Given the description of an element on the screen output the (x, y) to click on. 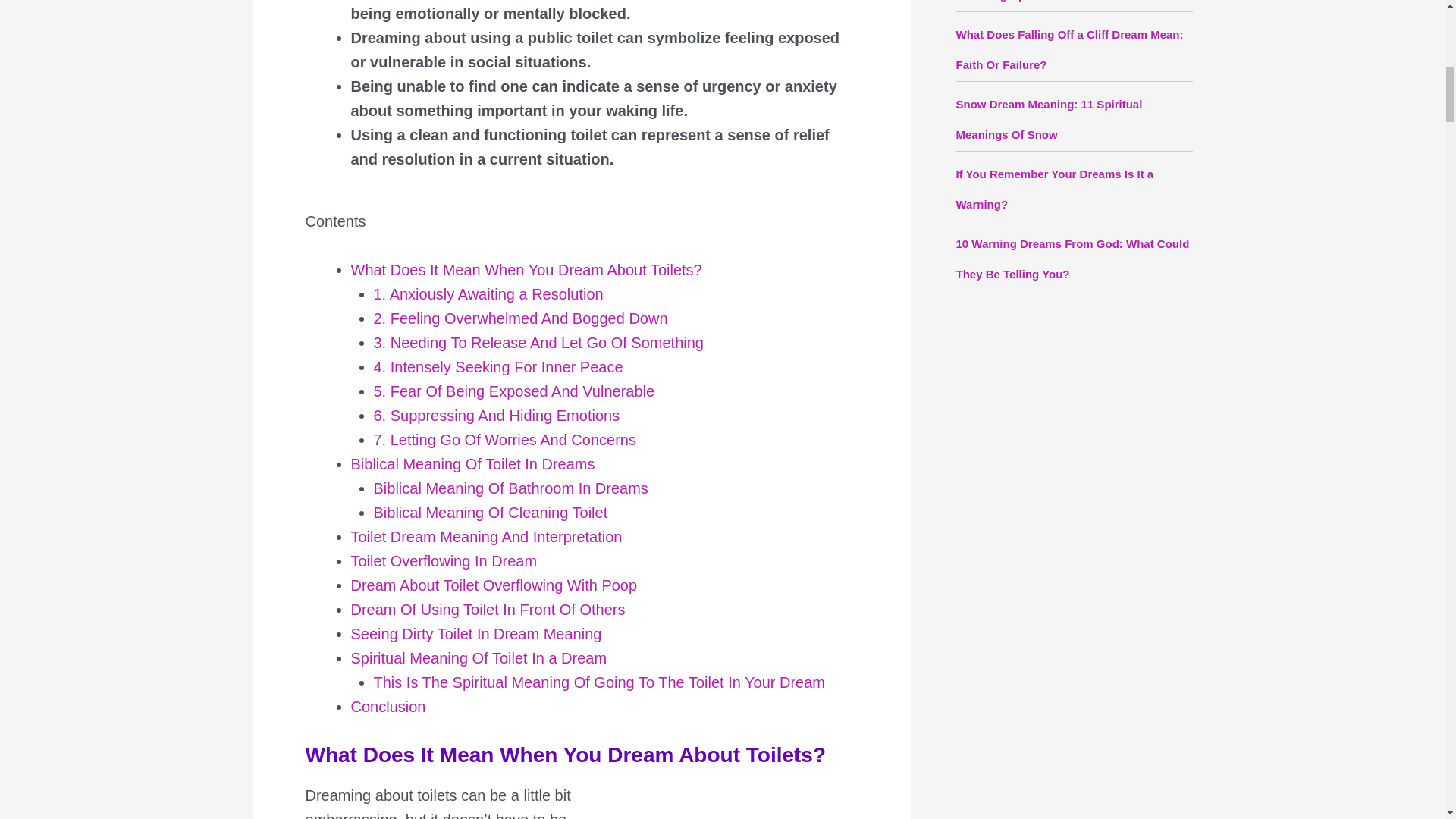
4. Intensely Seeking For Inner Peace (497, 366)
Biblical Meaning Of Bathroom In Dreams (509, 487)
6. Suppressing And Hiding Emotions (496, 415)
Dream About Toilet Overflowing With Poop (493, 585)
5. Fear Of Being Exposed And Vulnerable (512, 391)
Toilet Dream Meaning And Interpretation (485, 536)
Toilet Overflowing In Dream (443, 560)
3. Needing To Release And Let Go Of Something (537, 342)
Spiritual Meaning Of Toilet In a Dream (478, 658)
Snow Dream Meaning: 11 Spiritual Meanings Of Snow (1048, 118)
Biblical Meaning Of Cleaning Toilet (489, 512)
1. Anxiously Awaiting a Resolution (487, 293)
7. Letting Go Of Worries And Concerns (503, 439)
Conclusion (387, 706)
